Given the description of an element on the screen output the (x, y) to click on. 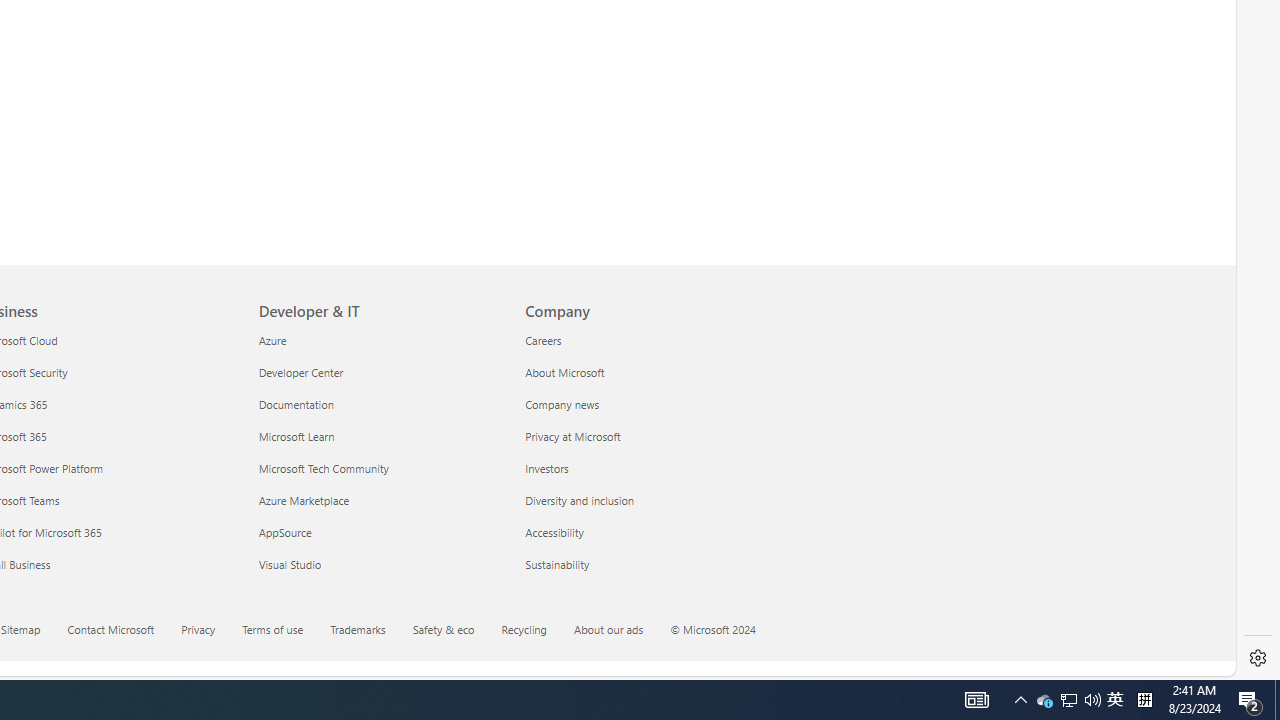
Accessibility Company (553, 532)
Microsoft Tech Community Developer & IT (323, 467)
Company news (646, 404)
Contact Microsoft (122, 631)
About our ads (620, 631)
Developer Center (379, 371)
Documentation (379, 404)
Azure Marketplace Developer & IT (303, 499)
Microsoft Learn (379, 435)
About Microsoft Company (564, 372)
Sustainability Company (557, 563)
Investors (646, 468)
Sustainability (646, 564)
